Given the description of an element on the screen output the (x, y) to click on. 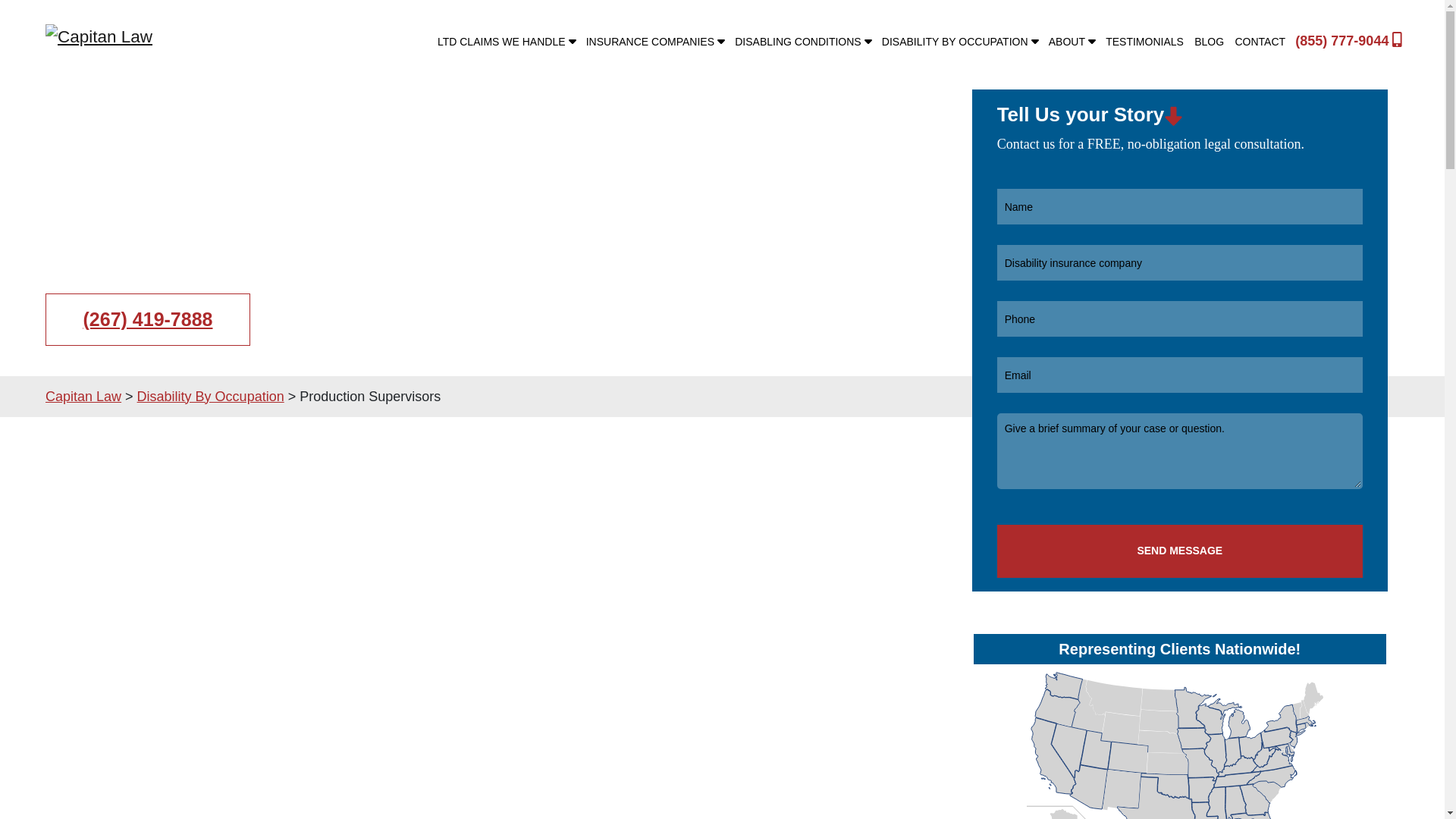
LTD CLAIMS WE HANDLE (506, 41)
DISABLING CONDITIONS (802, 41)
Go to Disability By Occupation. (209, 395)
SEND MESSAGE (1179, 551)
DISABILITY BY OCCUPATION (959, 41)
INSURANCE COMPANIES (655, 41)
Go to Capitan Law. (82, 395)
